Given the description of an element on the screen output the (x, y) to click on. 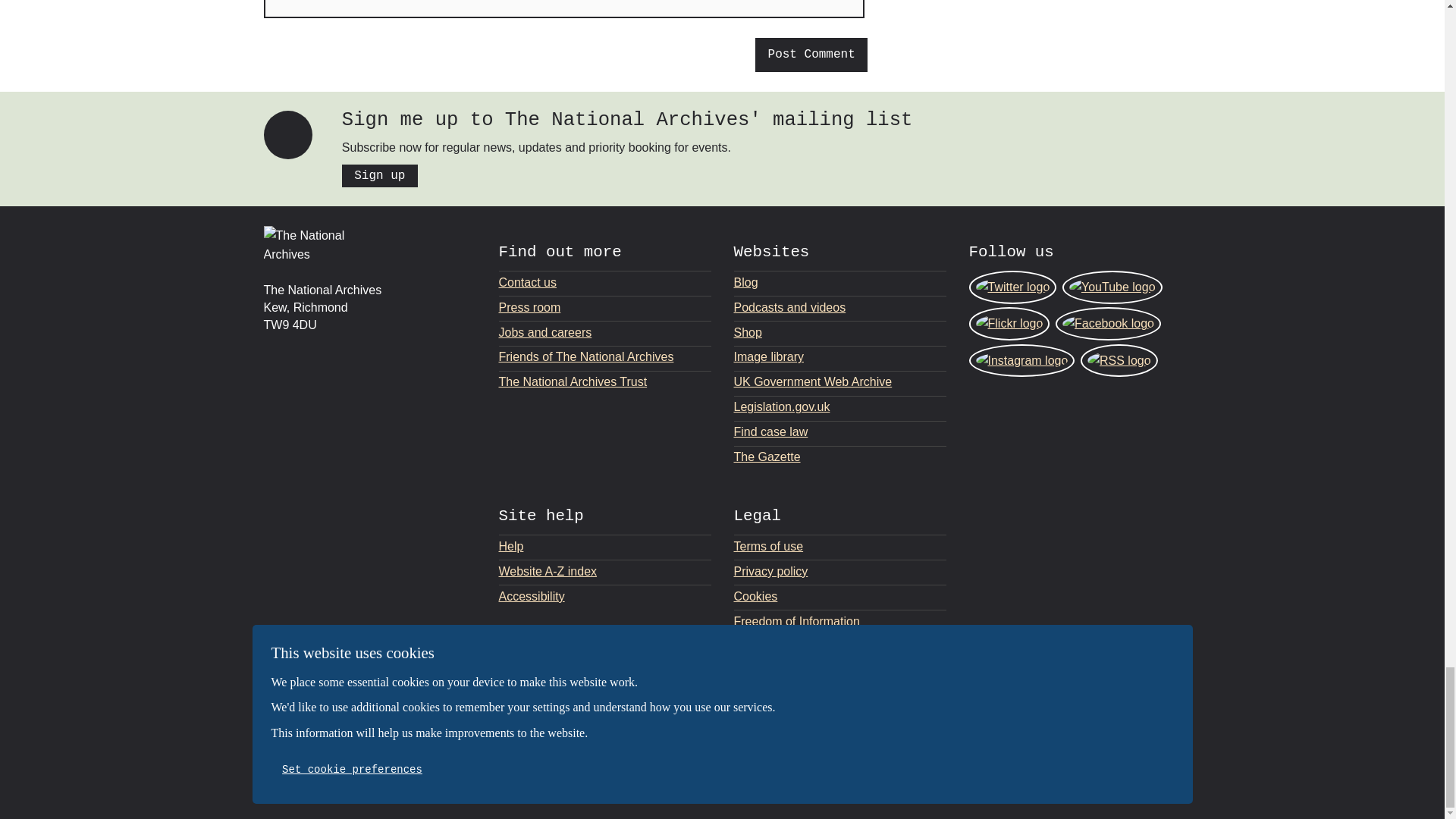
Follow us on Instagram - Opens a new window (1022, 360)
Opens a new window (839, 406)
Follow us on YouTube - Opens a new window (1111, 287)
Follow us on Flickr - Opens a new window (1009, 323)
Opens a new window (839, 456)
Follow us on Facebook - Opens a new window (1107, 323)
External website - opens in a new window (1138, 749)
Follow us on Twitter - Opens a new window (1013, 287)
Follow us via RSS (1118, 360)
Post Comment (811, 54)
